Given the description of an element on the screen output the (x, y) to click on. 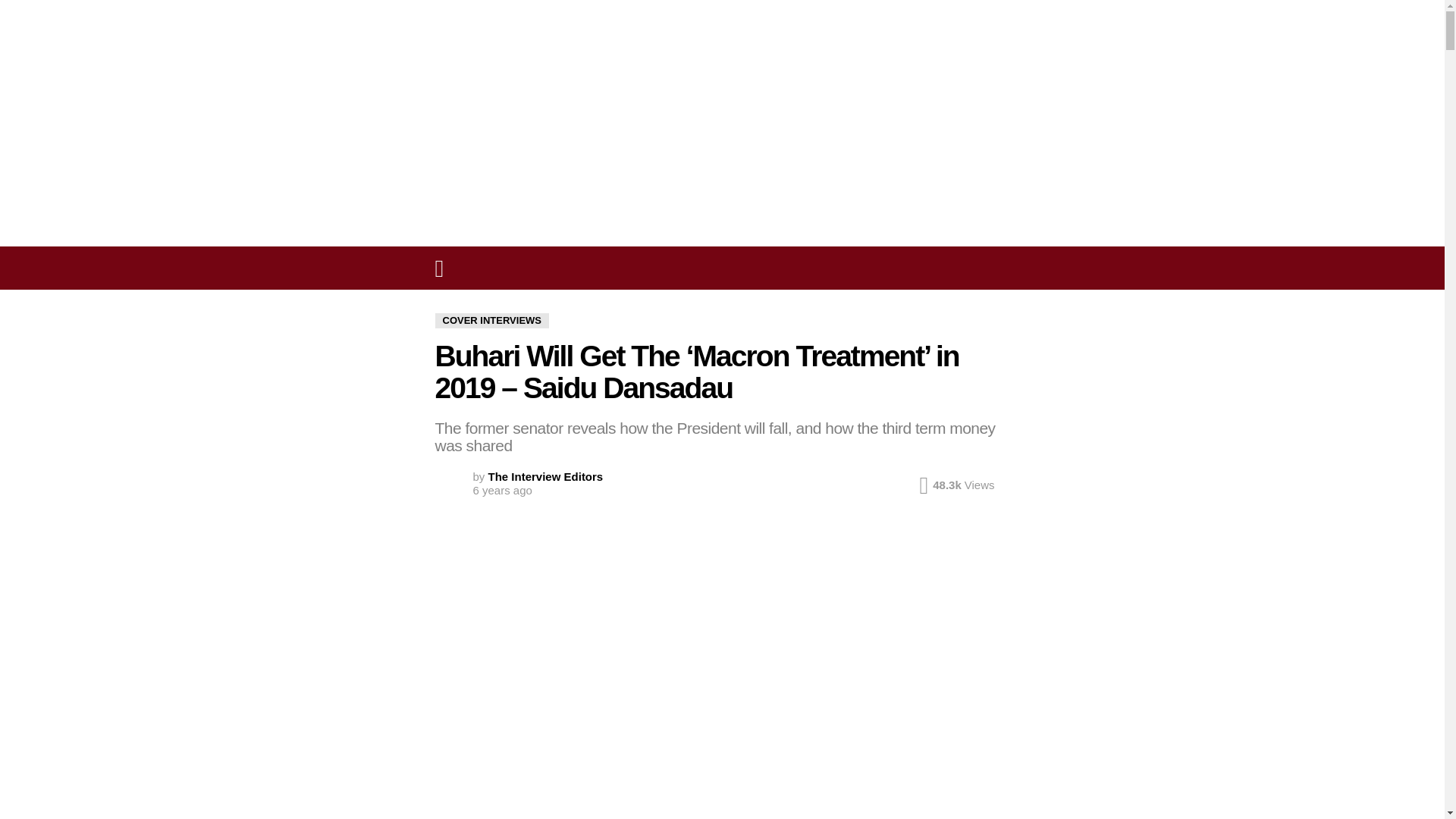
COVER INTERVIEWS (492, 320)
The Interview Editors (545, 476)
Posts by The Interview Editors (545, 476)
